Given the description of an element on the screen output the (x, y) to click on. 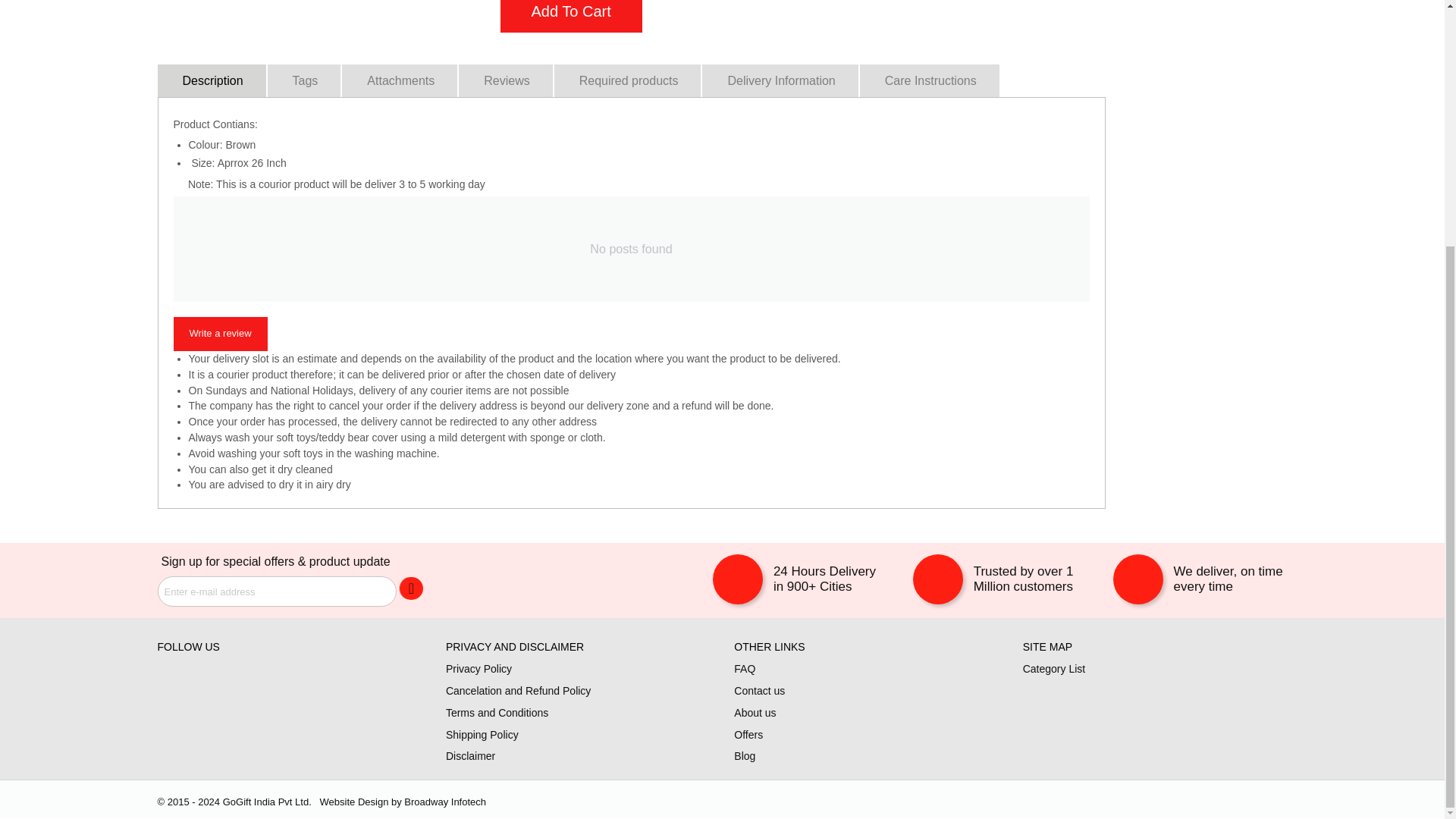
Write a review (219, 333)
Enter e-mail address (276, 591)
Go (410, 588)
